Given the description of an element on the screen output the (x, y) to click on. 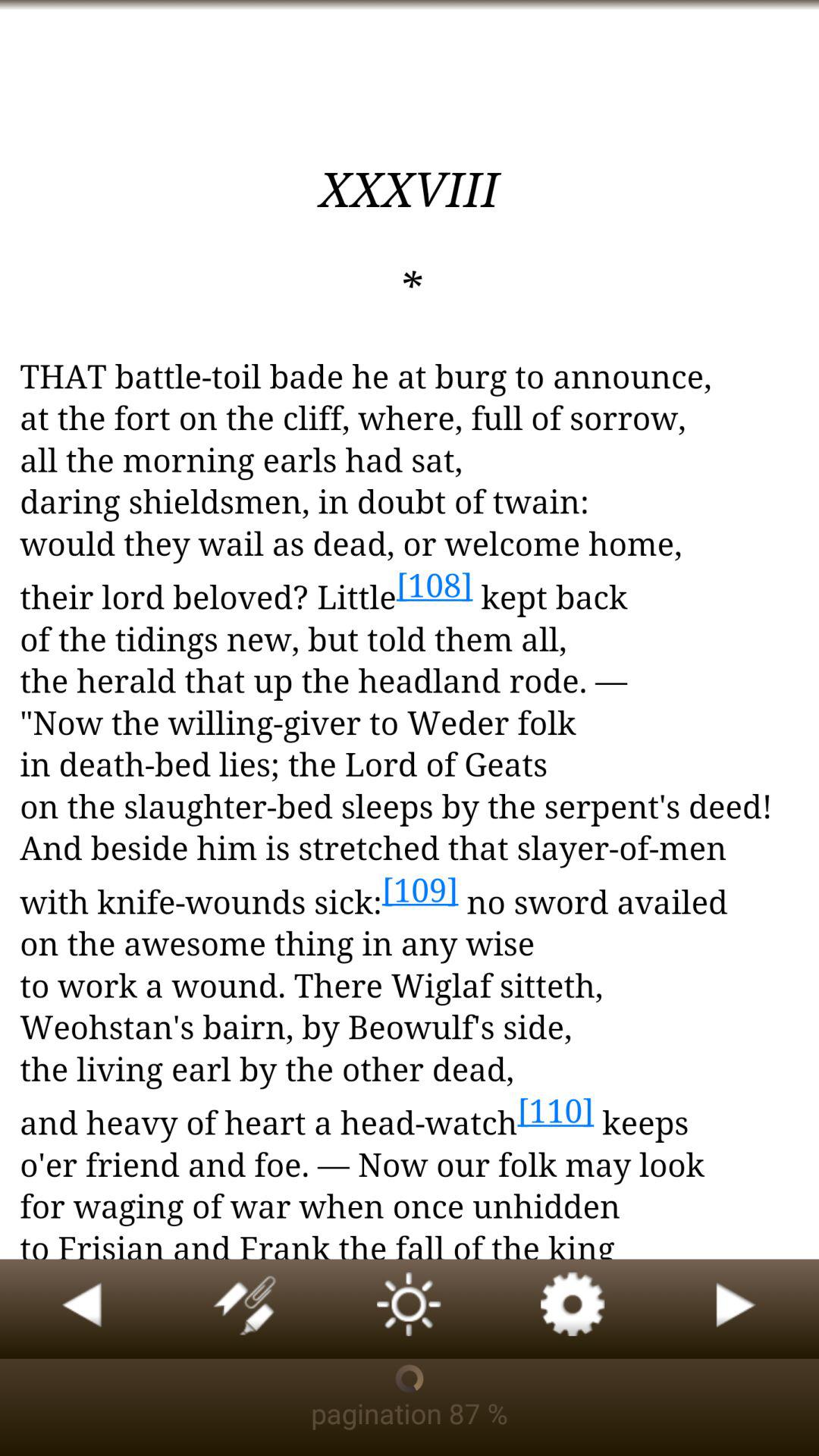
brightness icon (409, 1308)
